Given the description of an element on the screen output the (x, y) to click on. 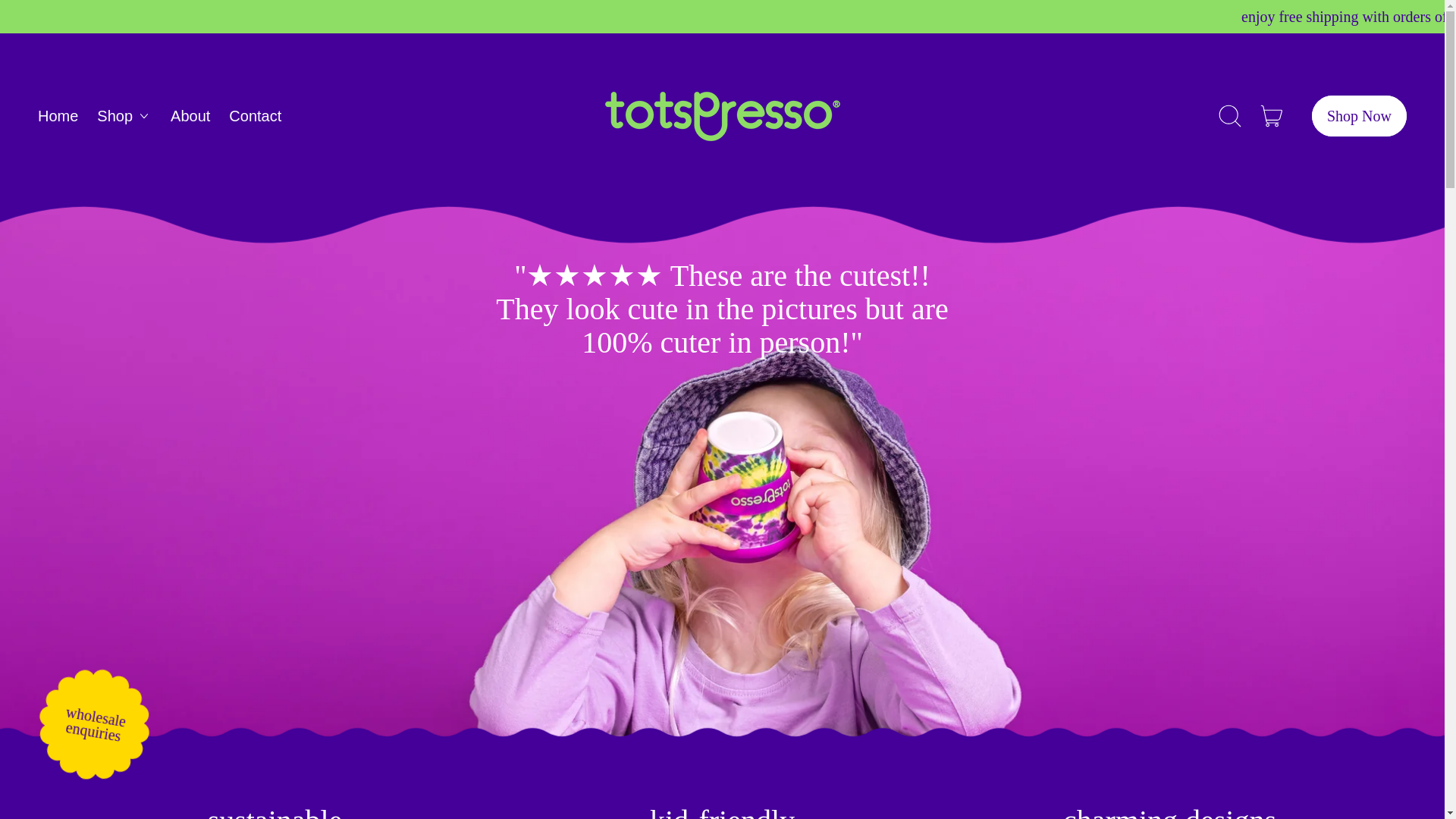
About (190, 115)
Contact (255, 115)
Shop (124, 115)
Shop Now (1358, 115)
Search our site (1229, 115)
Home (58, 115)
